Given the description of an element on the screen output the (x, y) to click on. 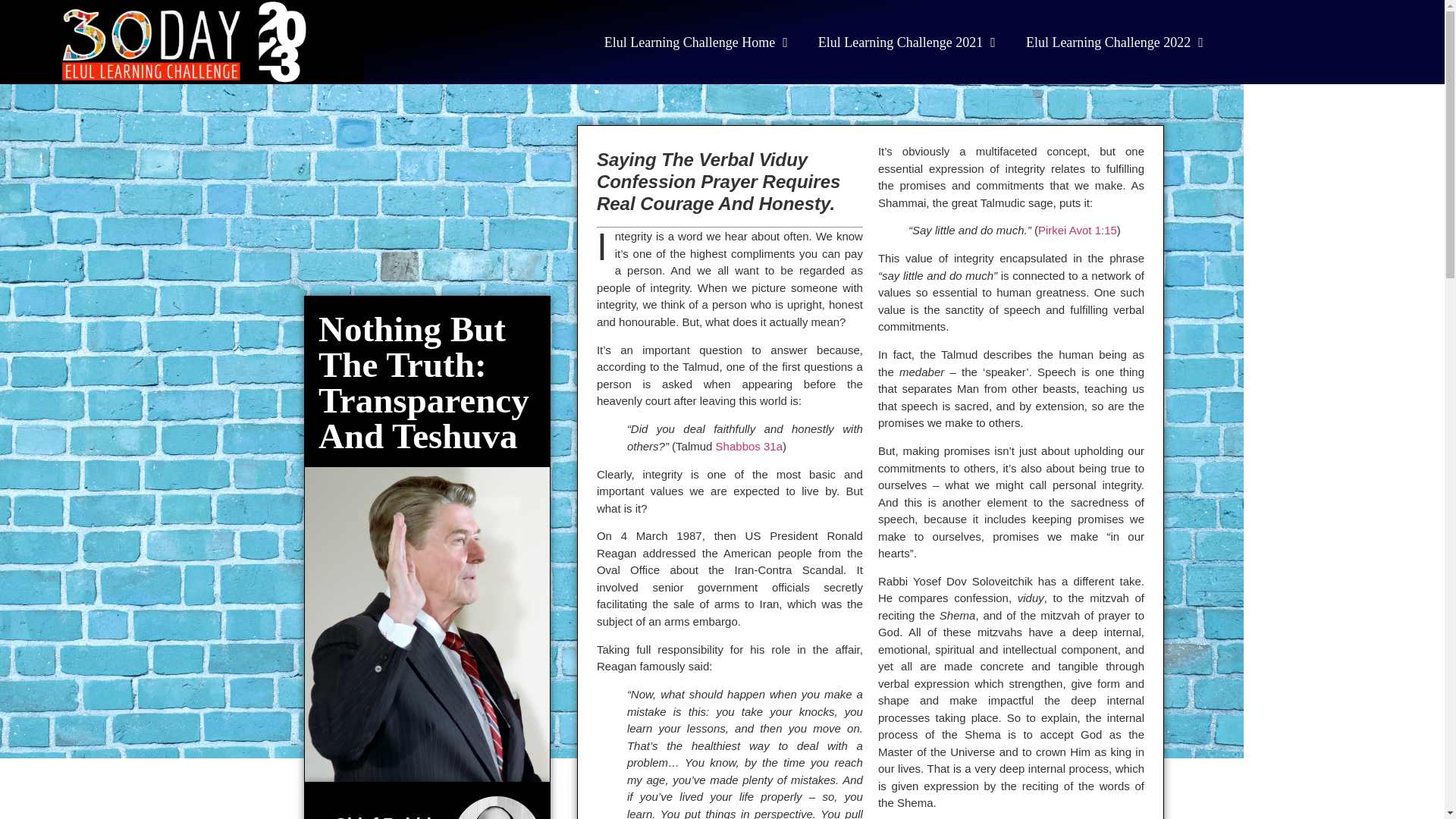
Elul Learning Challenge Home (696, 41)
Elul Learning Challenge 2022 (1114, 41)
Elul Learning Challenge 2021 (906, 41)
